Given the description of an element on the screen output the (x, y) to click on. 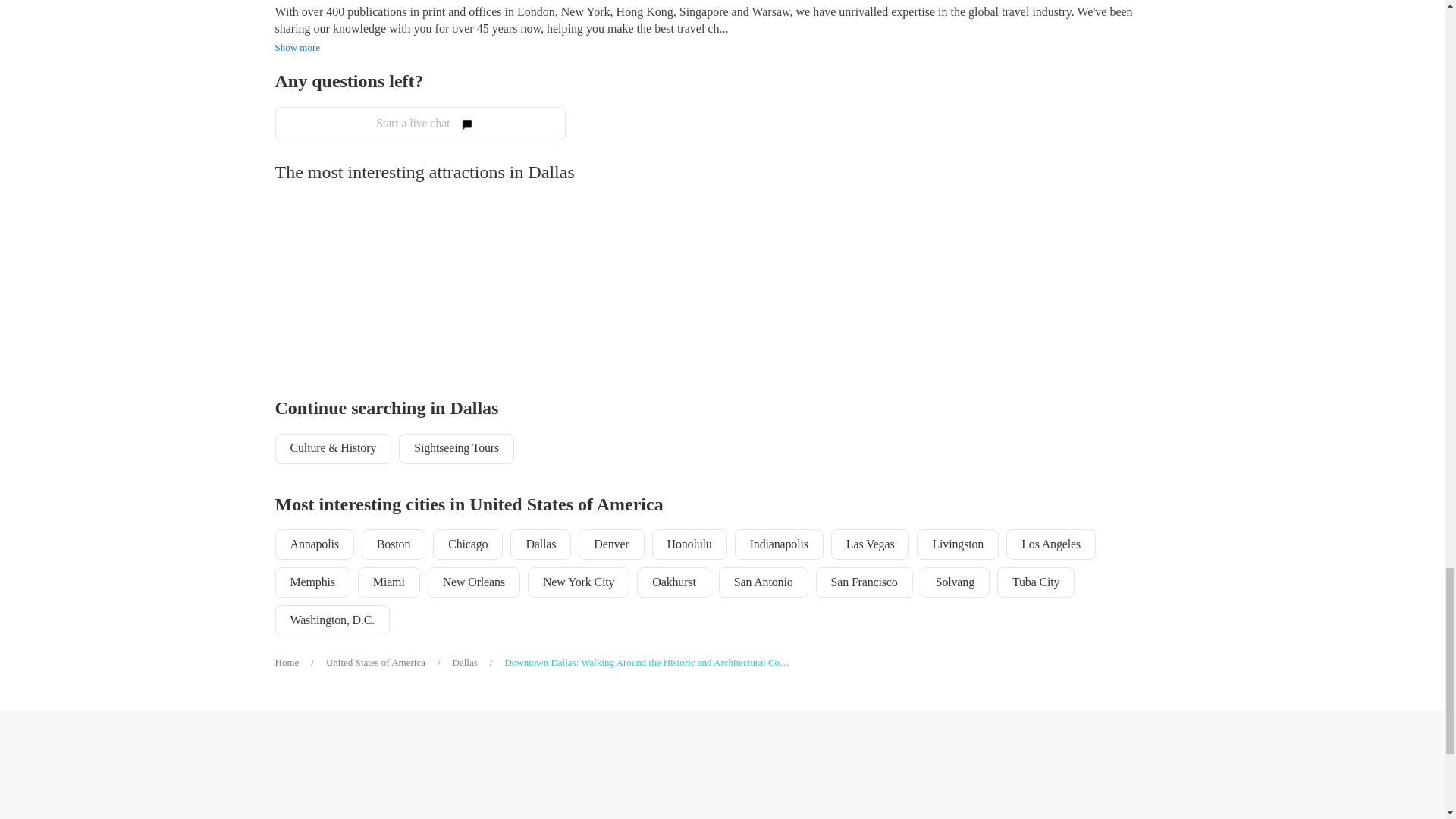
Show more (297, 47)
Dallas (478, 663)
United States of America (389, 663)
Sightseeing Tours (455, 449)
Home (299, 663)
Start a live chat (420, 123)
